Given the description of an element on the screen output the (x, y) to click on. 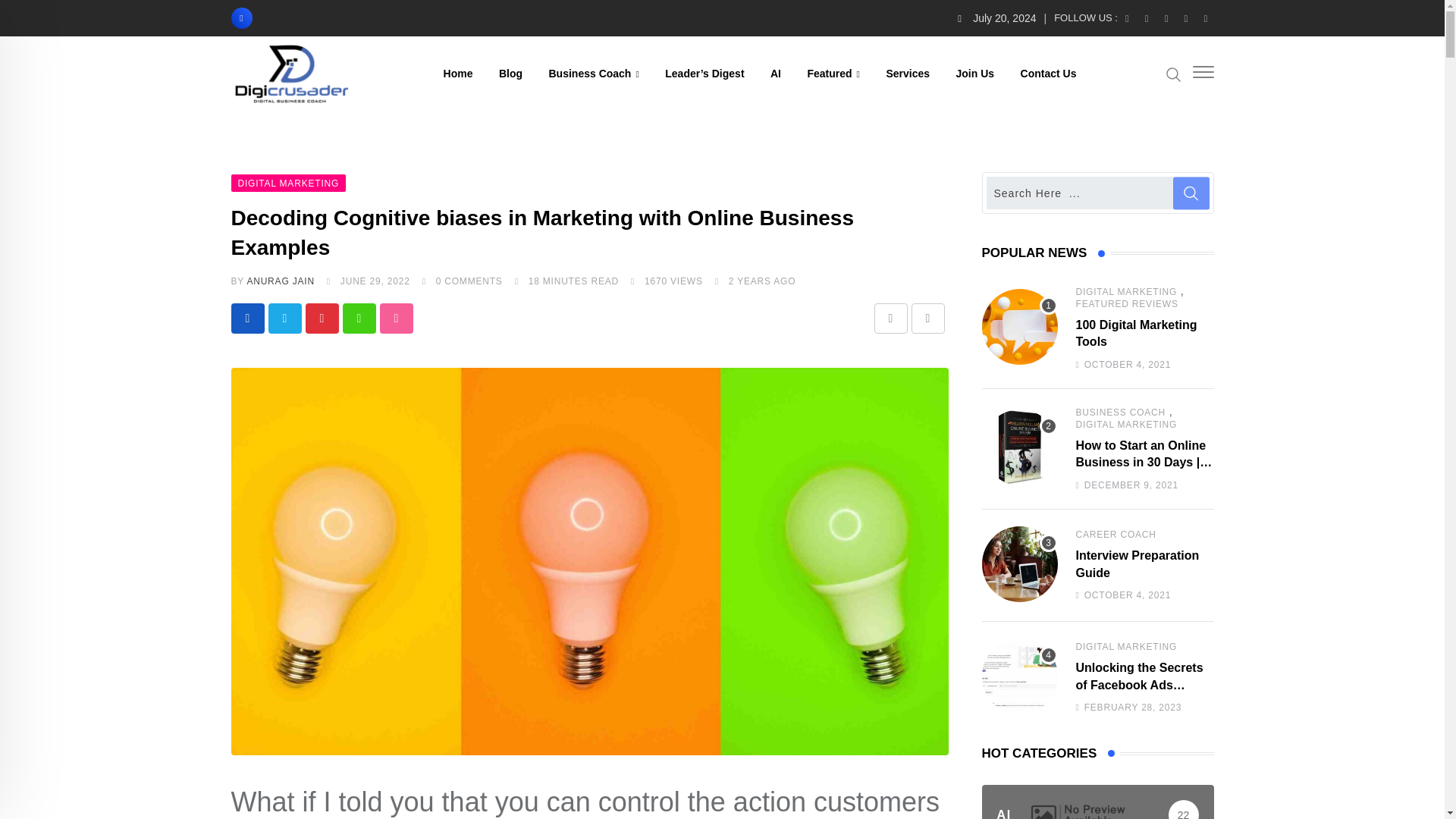
Interview Preparation Guide (1019, 563)
Posts by Anurag Jain (280, 281)
Services (907, 73)
Featured (832, 73)
100 Digital Marketing Tools (1019, 326)
Business Coach (593, 73)
Contact Us (1048, 73)
Search (1173, 73)
Interview Preparation Guide (1019, 576)
100 Digital Marketing Tools (1019, 379)
